Given the description of an element on the screen output the (x, y) to click on. 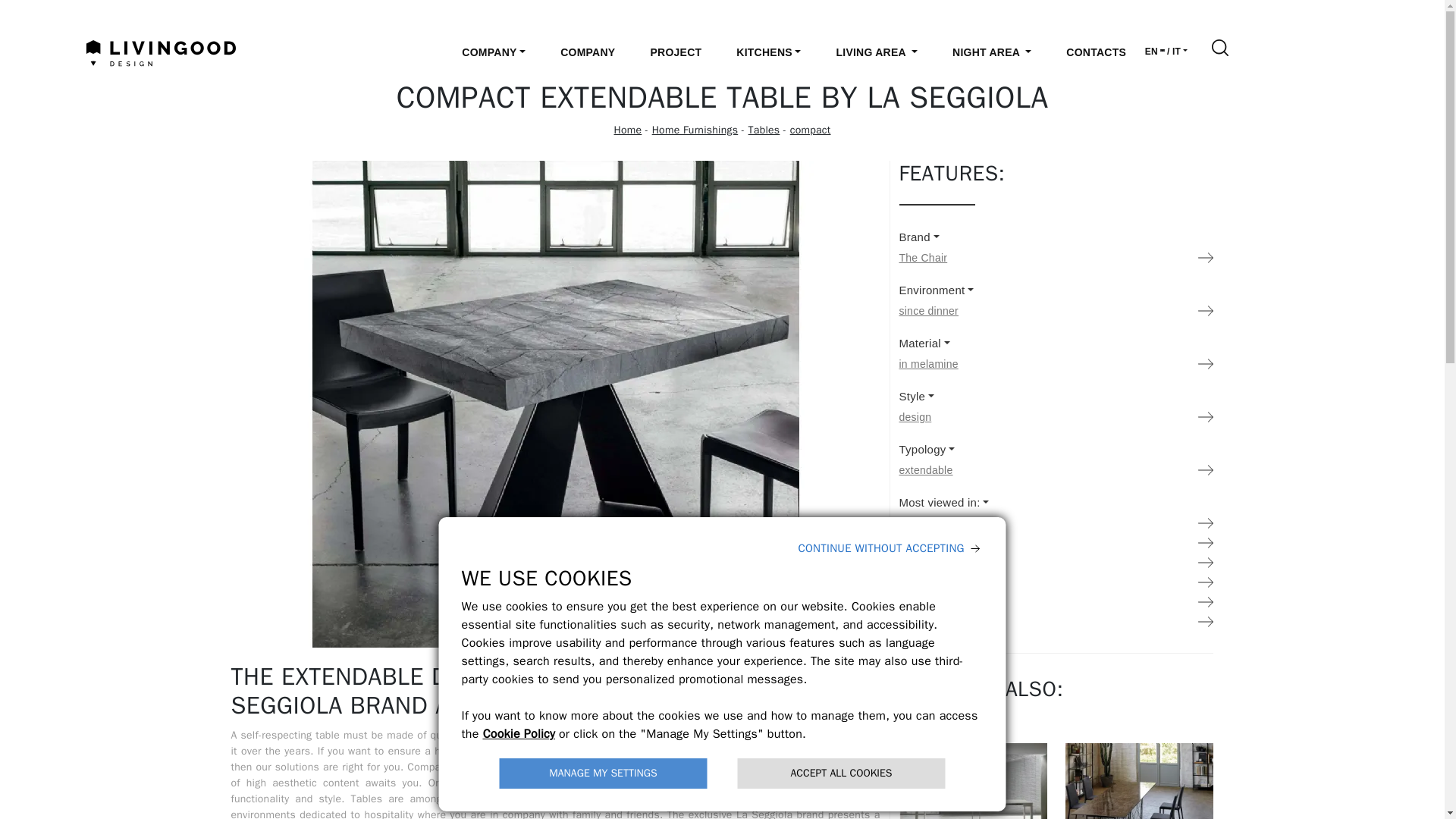
KITCHENS (768, 51)
Home (628, 129)
Kitchens (768, 51)
NIGHT AREA (991, 51)
Home Furnishings (695, 129)
COMPANY (587, 51)
LIVING AREA (876, 51)
Tables (764, 129)
PROJECT (675, 51)
Project furniture (675, 51)
